Given the description of an element on the screen output the (x, y) to click on. 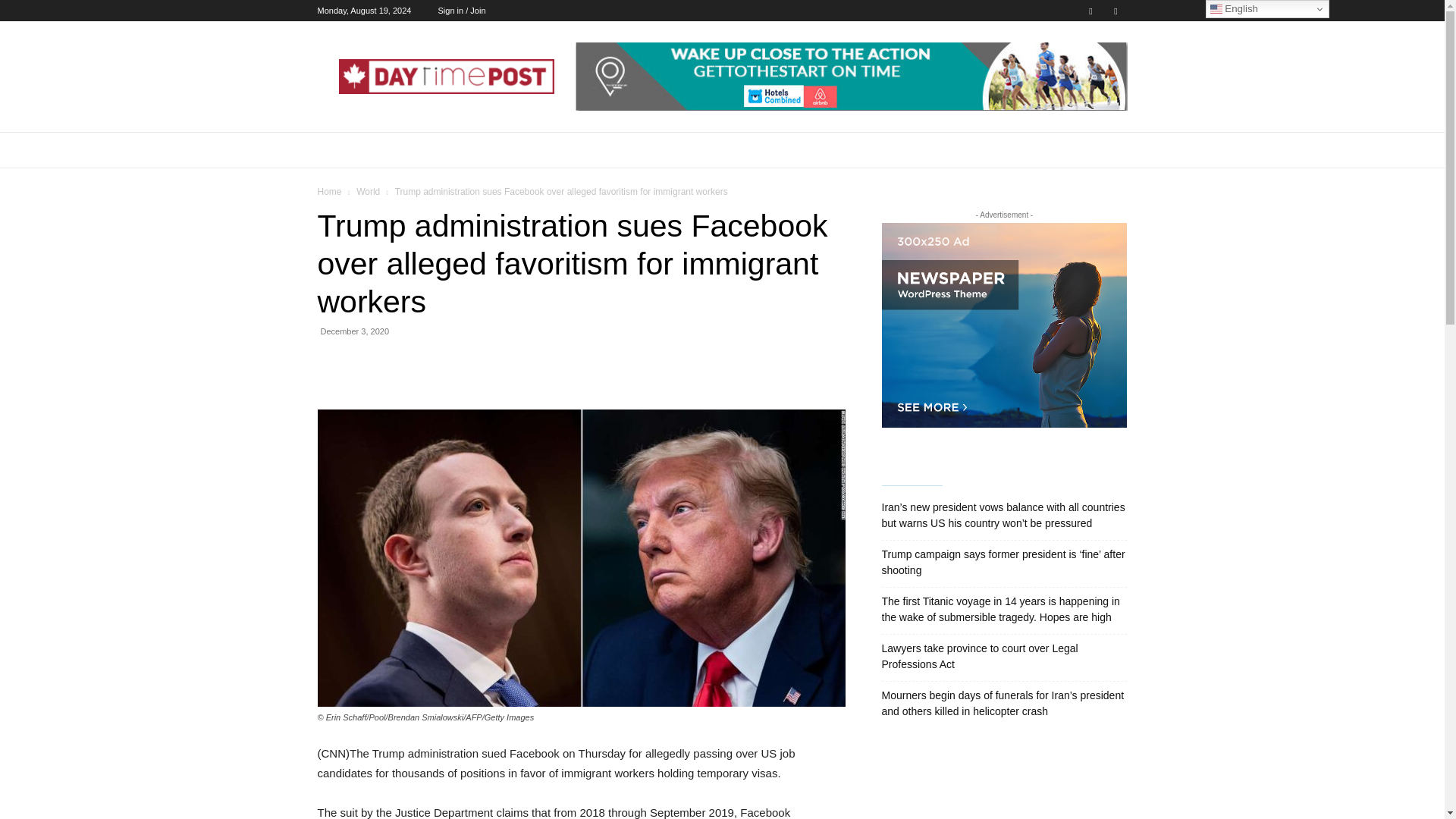
CRIME (927, 149)
Youtube (1114, 10)
Home (328, 191)
Search (1085, 210)
Facebook (1090, 10)
CANADA (475, 149)
HOME (343, 149)
LIFESTYLE (639, 149)
WORLD (1043, 149)
POLITICS (767, 149)
